Given the description of an element on the screen output the (x, y) to click on. 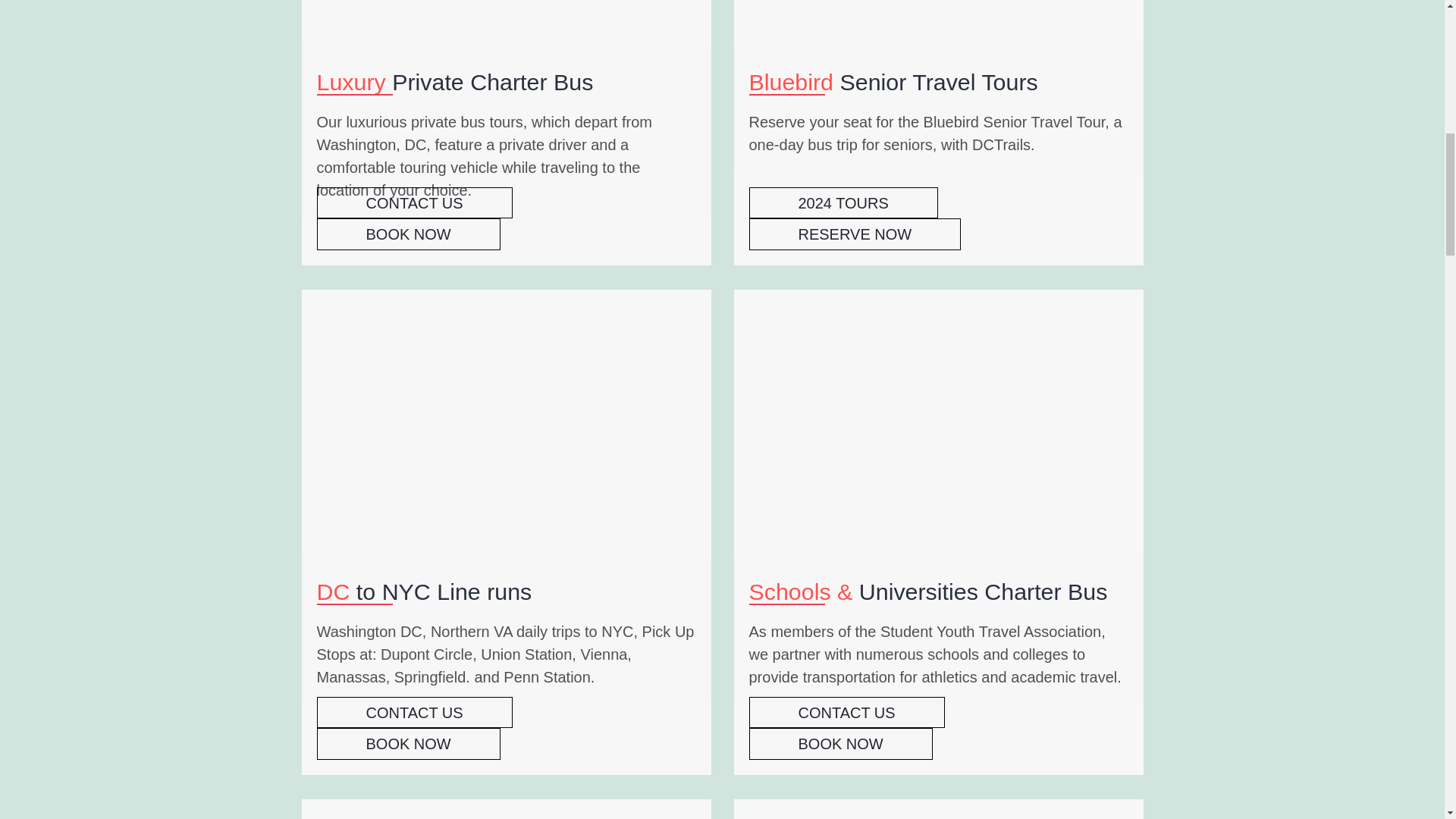
RESERVE NOW (854, 234)
CONTACT US (414, 203)
2024 TOURS (843, 203)
CONTACT US (414, 712)
BOOK NOW (408, 234)
